Given the description of an element on the screen output the (x, y) to click on. 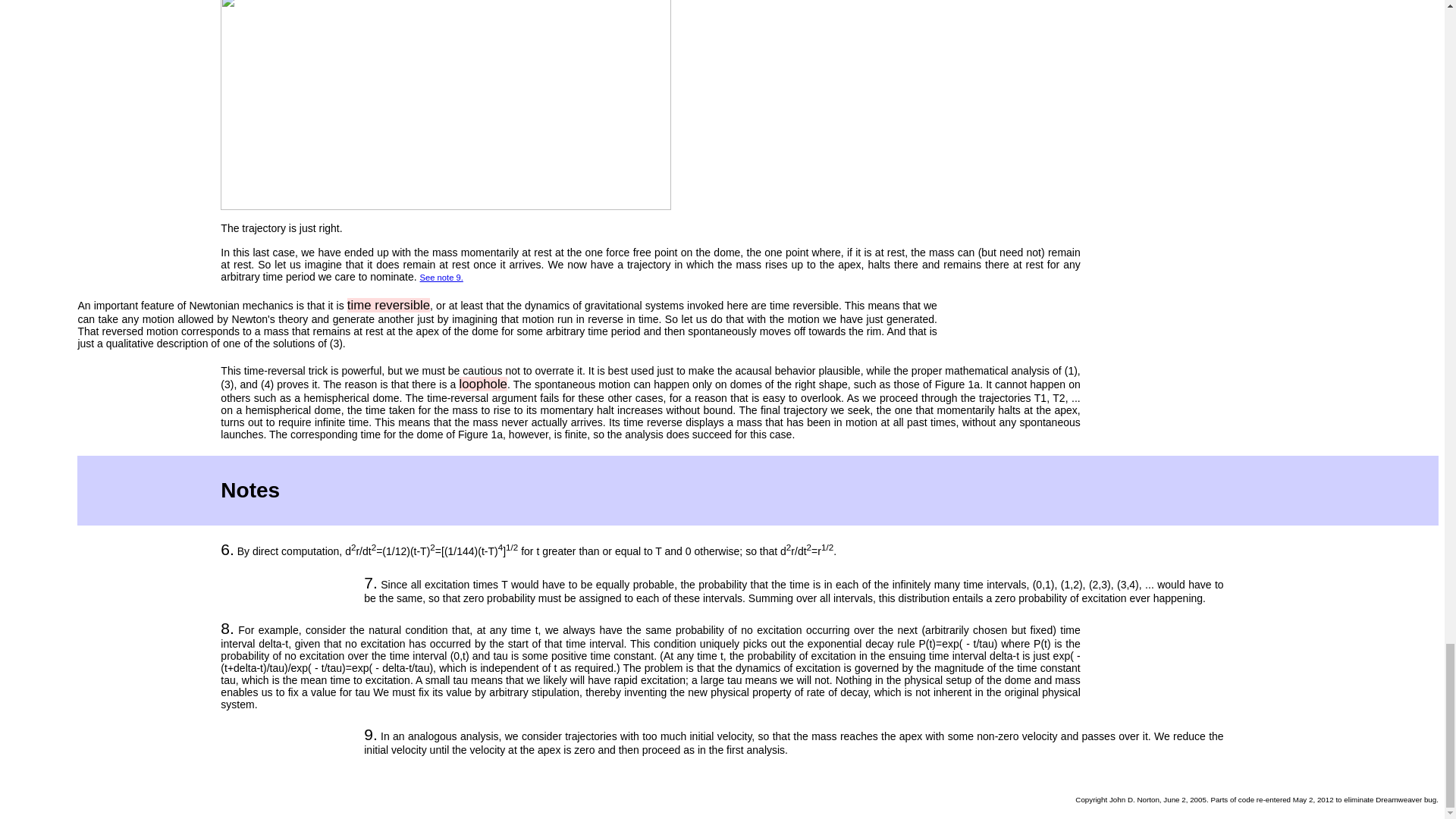
See note 9. (441, 276)
